Given the description of an element on the screen output the (x, y) to click on. 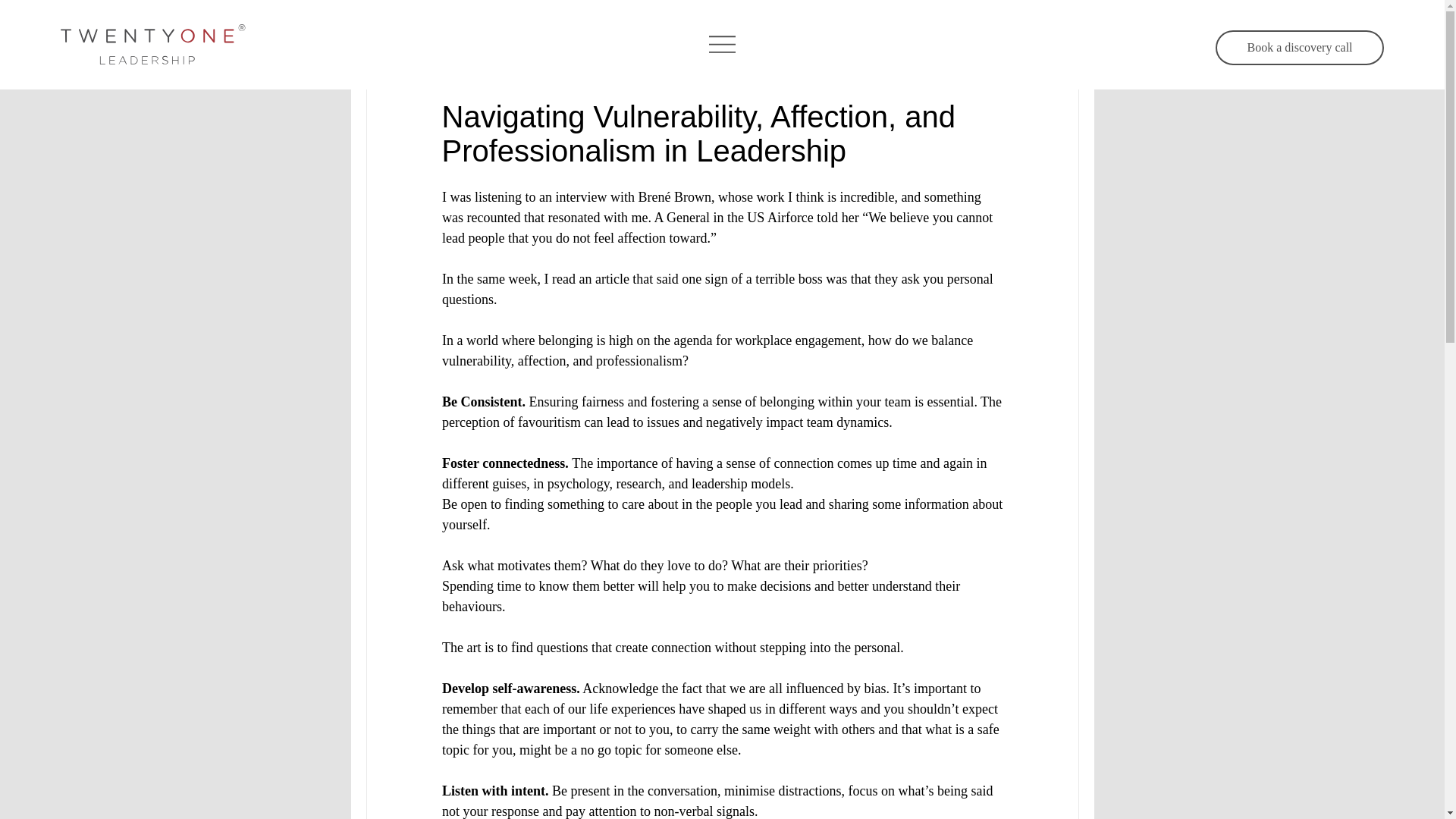
sam15580 (465, 69)
Book a discovery call (1299, 47)
sam15580 (465, 69)
